Given the description of an element on the screen output the (x, y) to click on. 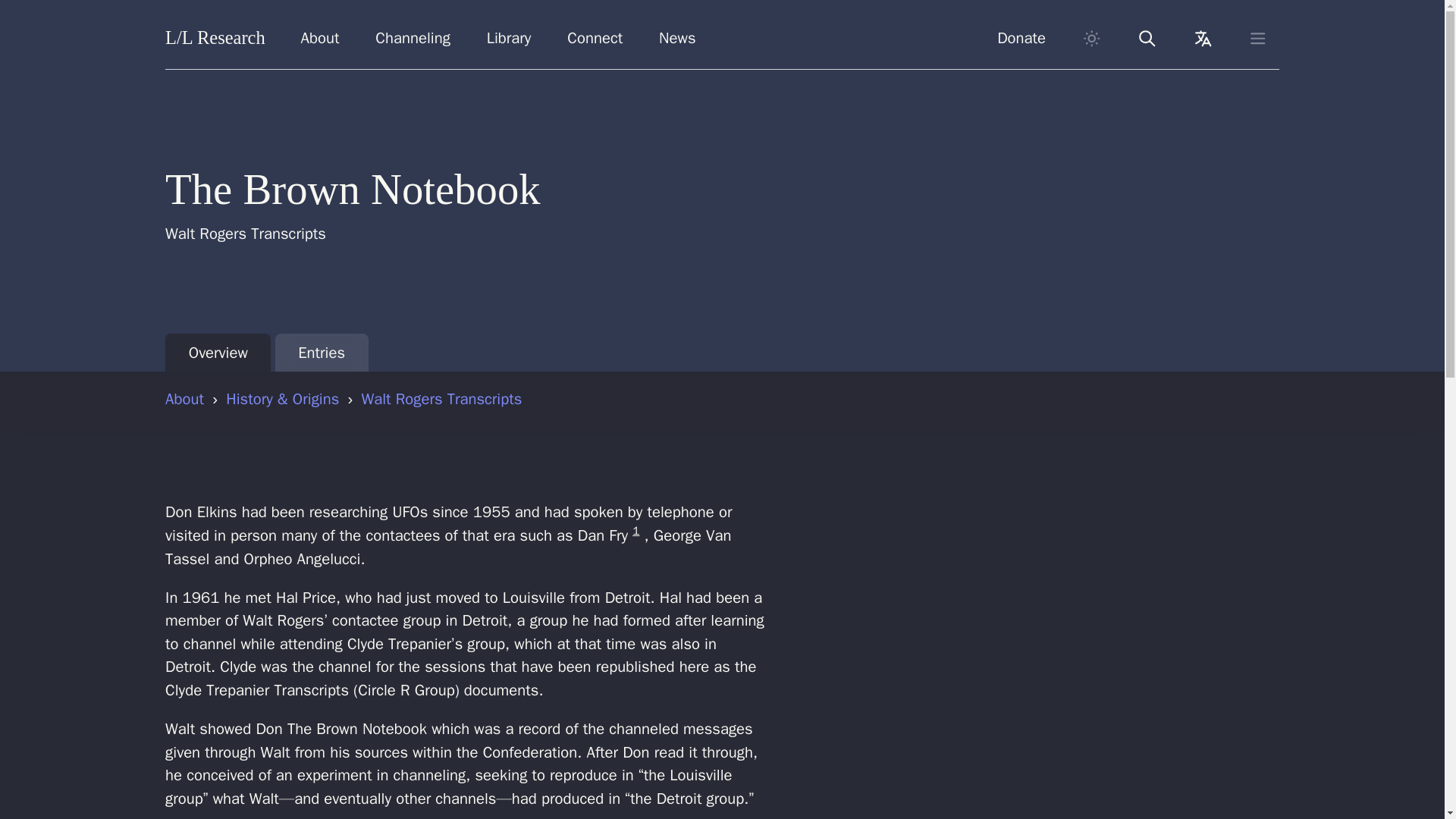
Search (1147, 38)
Donate (1021, 38)
